Given the description of an element on the screen output the (x, y) to click on. 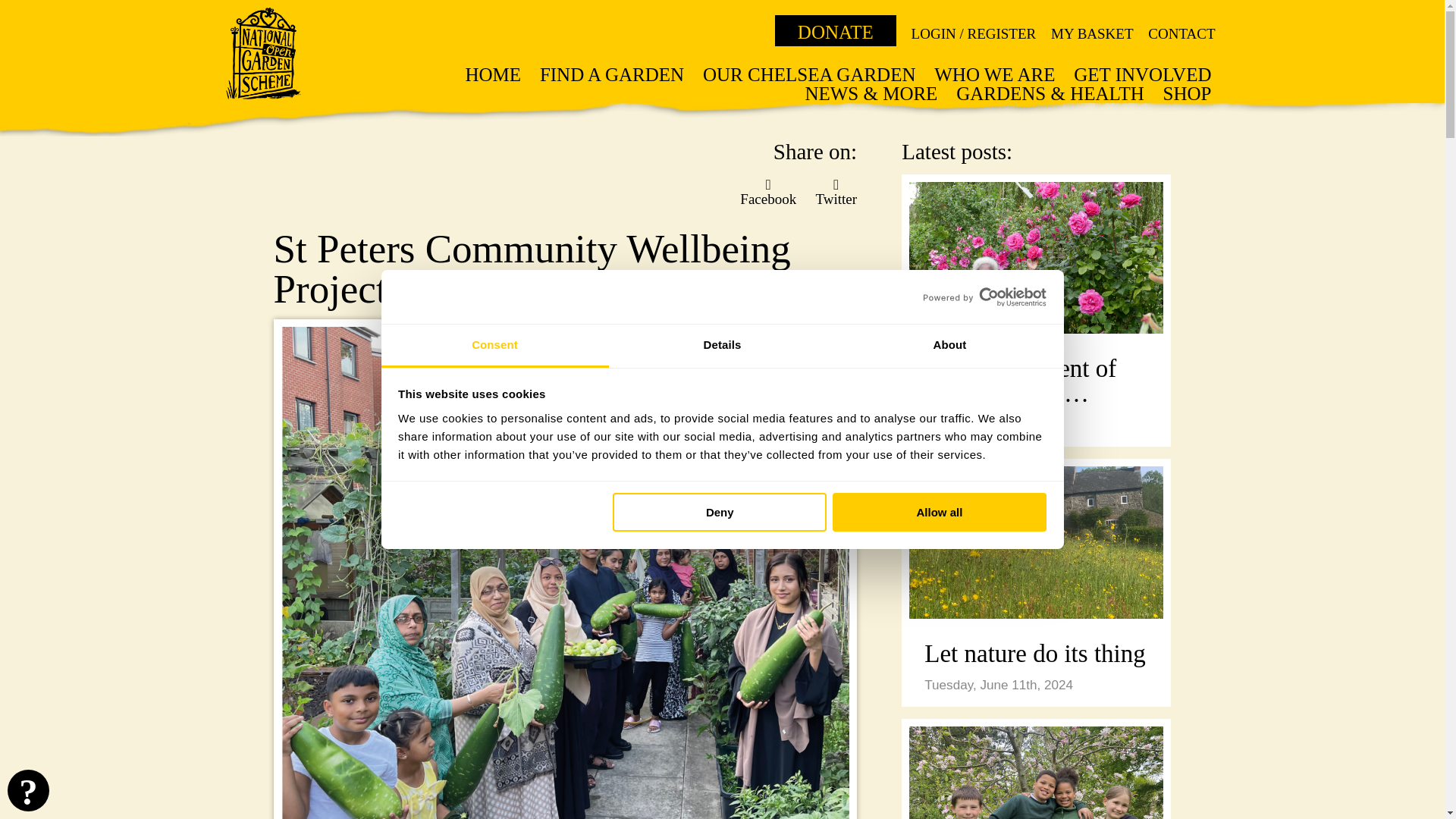
Consent (494, 345)
About (948, 345)
Details (721, 345)
